Given the description of an element on the screen output the (x, y) to click on. 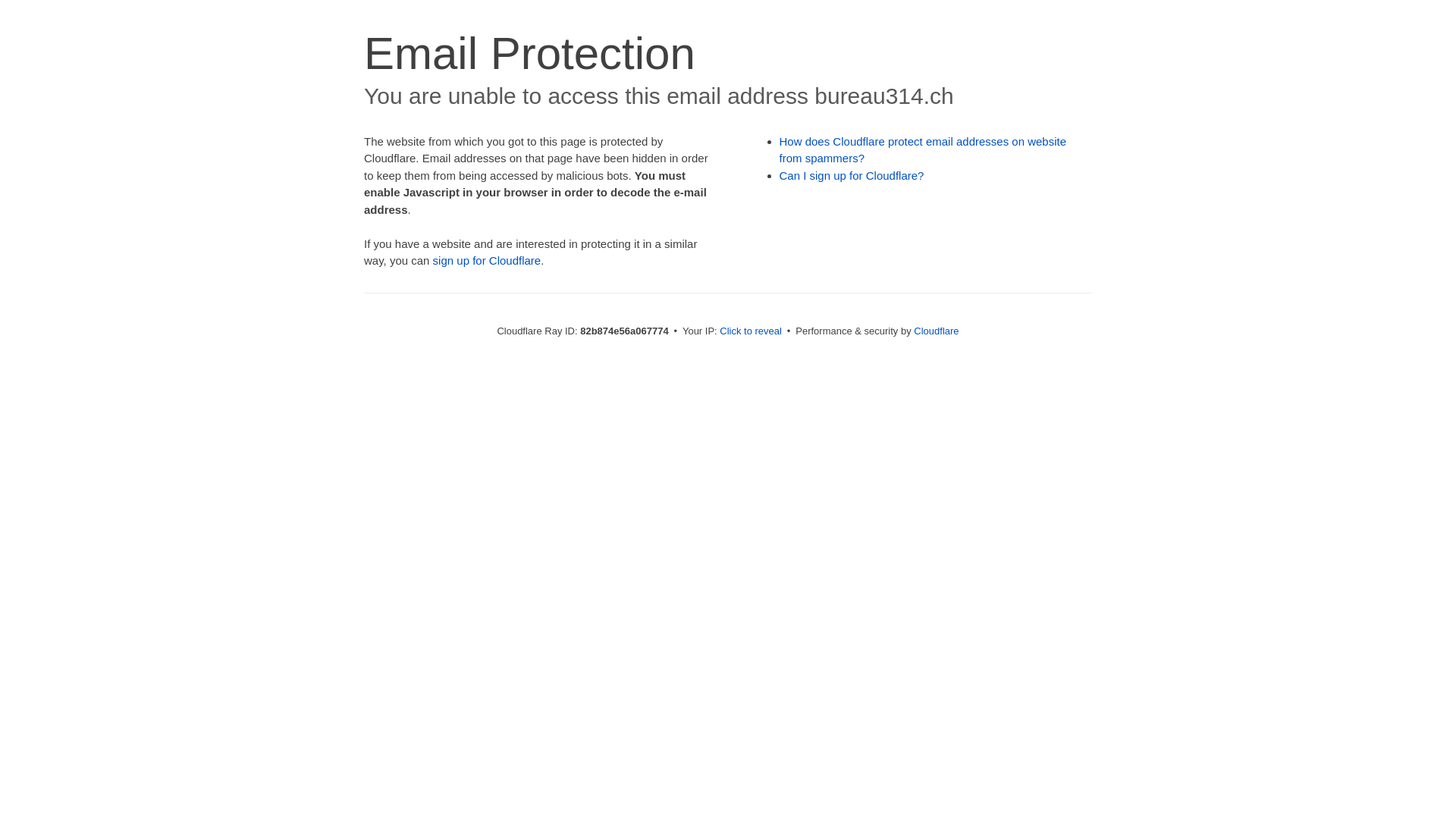
Click to reveal Element type: text (750, 330)
sign up for Cloudflare Element type: text (487, 260)
Can I sign up for Cloudflare? Element type: text (851, 175)
Cloudflare Element type: text (935, 330)
